Given the description of an element on the screen output the (x, y) to click on. 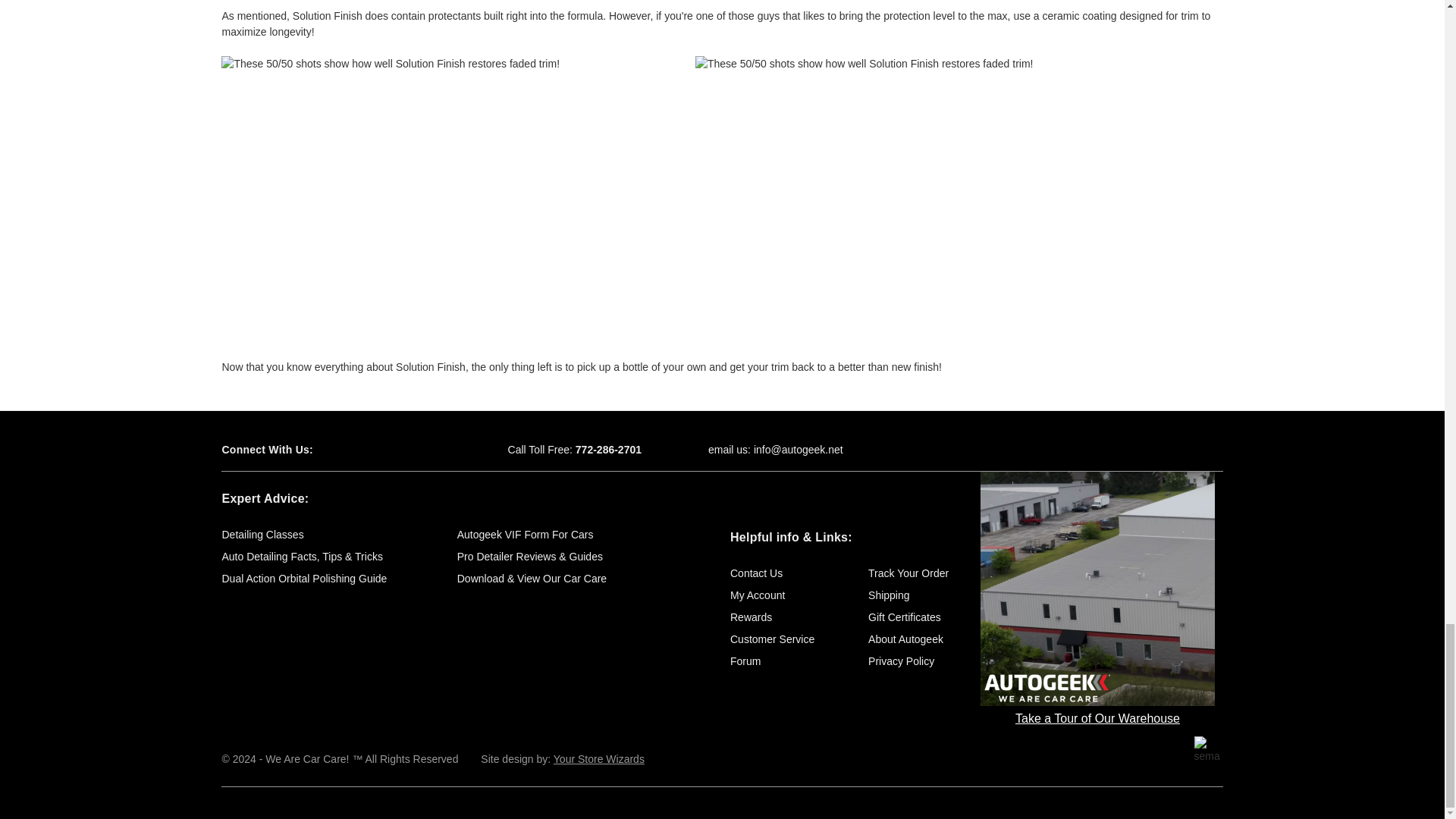
Facebook (351, 449)
Twitter (379, 449)
Instagram (433, 449)
Youtube (405, 449)
